Given the description of an element on the screen output the (x, y) to click on. 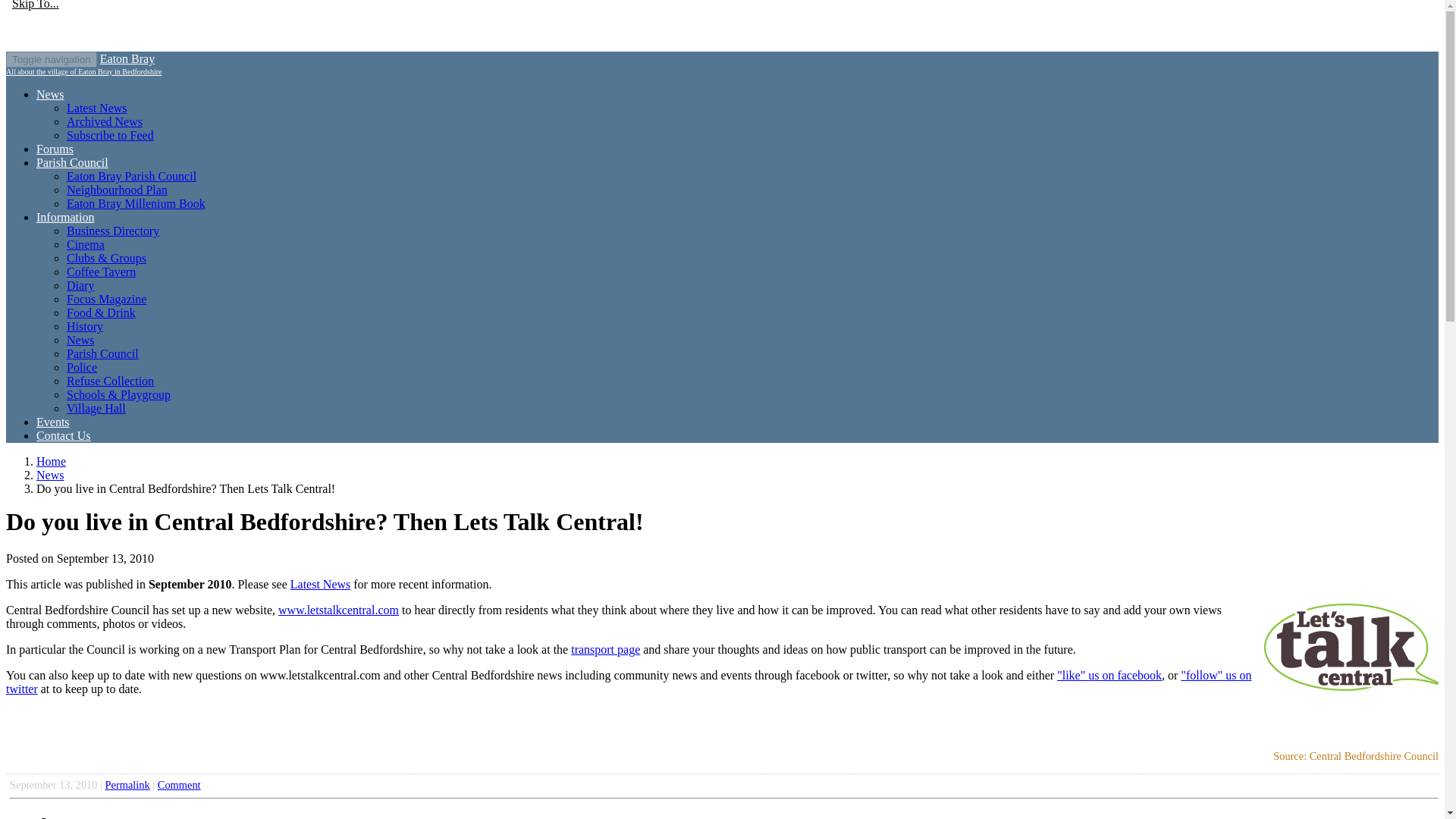
Contact Us (63, 435)
Focus Magazine (106, 298)
Eaton Bray Parish Council (131, 175)
Coffee Tavern (100, 271)
Eaton Bray Millenium Book (135, 203)
Eaton Bray, Bedfordshire (50, 461)
Information (65, 217)
Eaton Bray Parish Council (71, 162)
Display Eaton Bray Millenium Book (135, 203)
Latest News (97, 107)
